Given the description of an element on the screen output the (x, y) to click on. 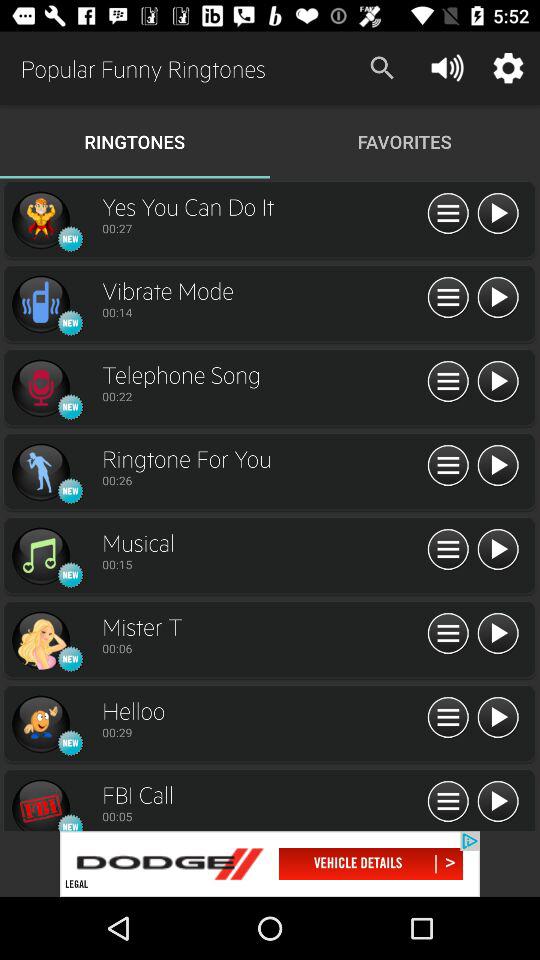
advertisement link (270, 864)
